Given the description of an element on the screen output the (x, y) to click on. 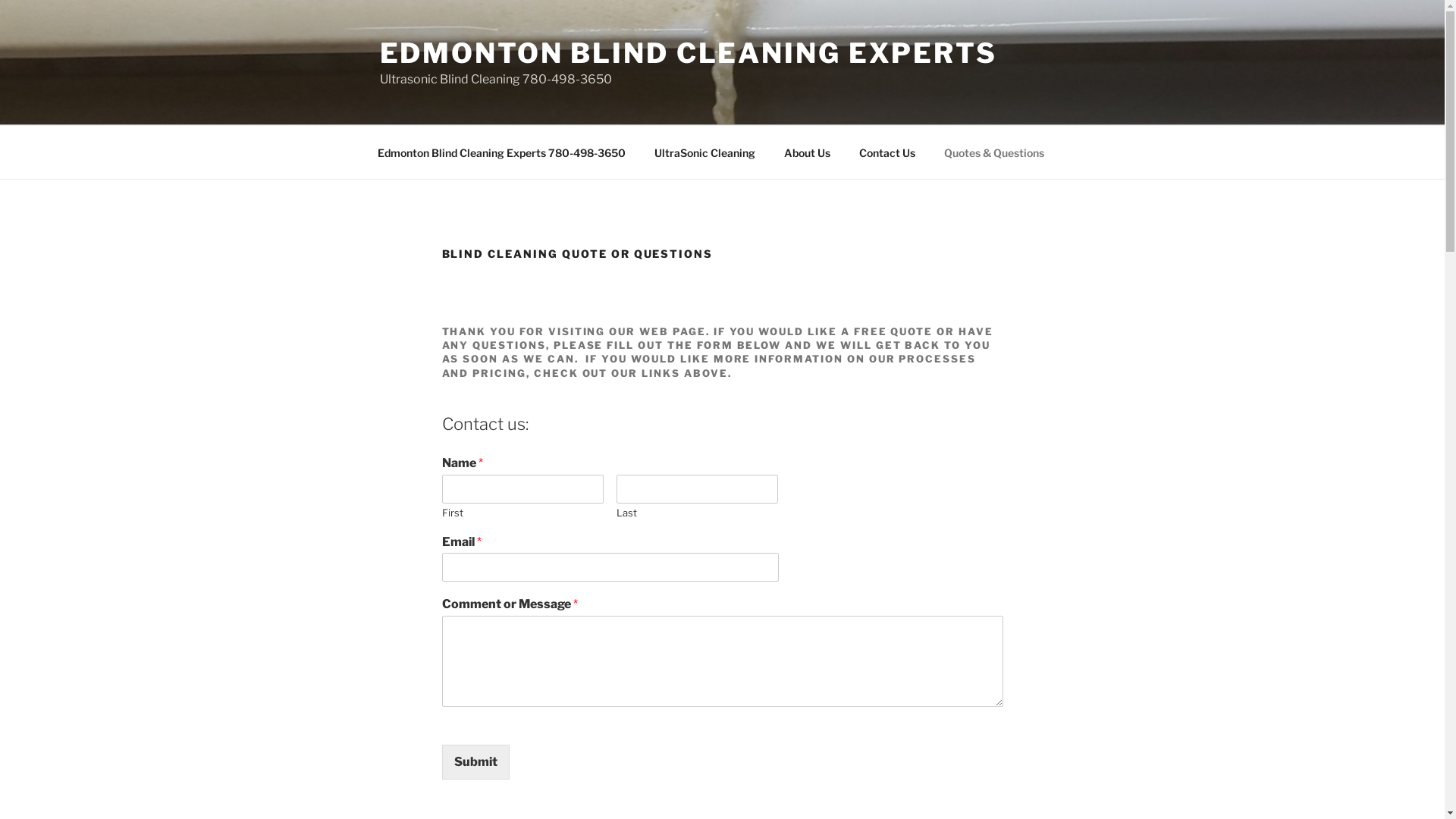
Submit Element type: text (474, 761)
Contact Us Element type: text (887, 151)
Edmonton Blind Cleaning Experts 780-498-3650 Element type: text (501, 151)
Quotes & Questions Element type: text (994, 151)
About Us Element type: text (806, 151)
EDMONTON BLIND CLEANING EXPERTS Element type: text (687, 52)
UltraSonic Cleaning Element type: text (704, 151)
